Given the description of an element on the screen output the (x, y) to click on. 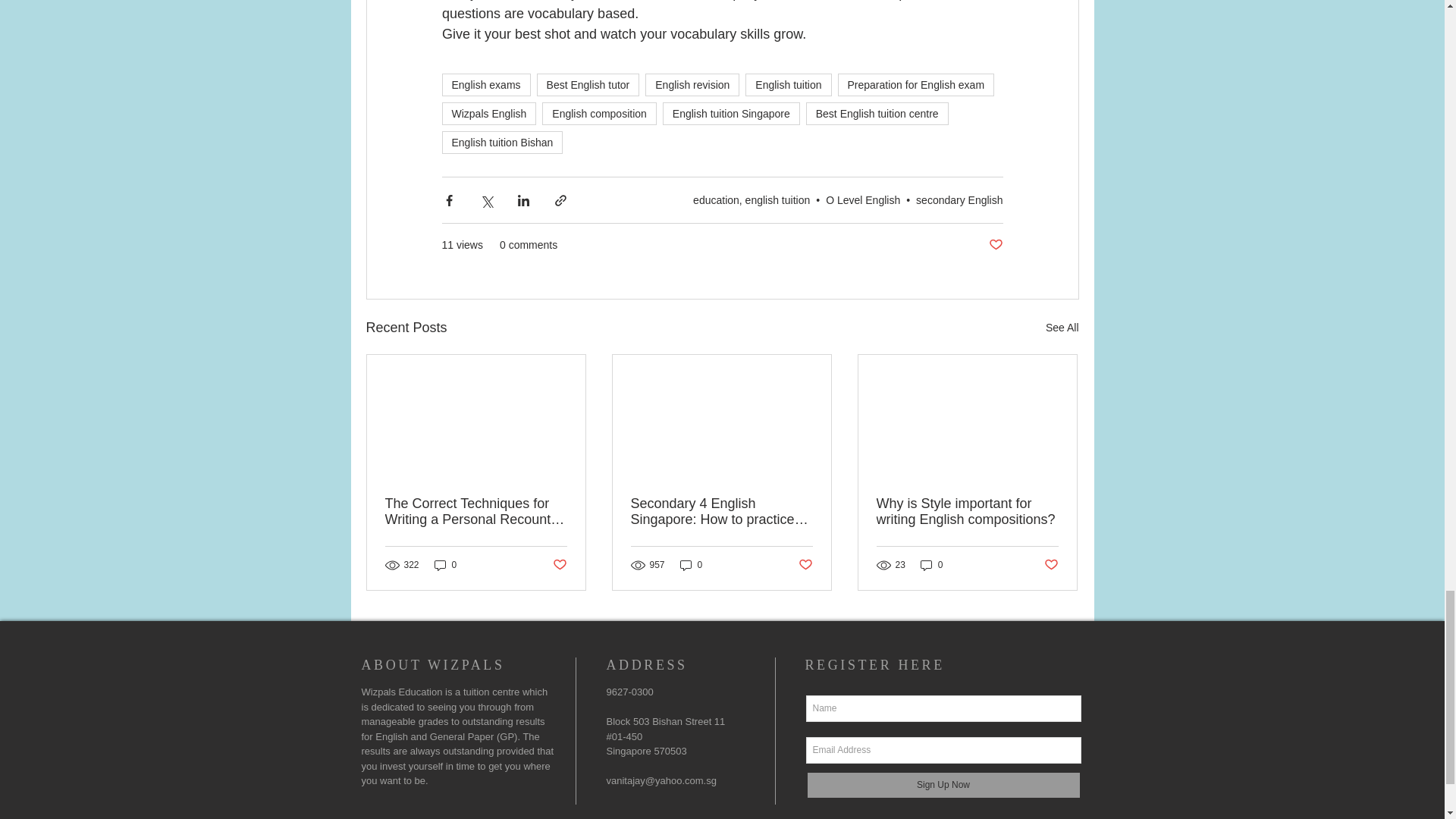
English tuition Singapore (730, 113)
education, english tuition (751, 200)
English revision (692, 84)
See All (1061, 327)
English composition (598, 113)
Best English tutor (588, 84)
0 (445, 564)
secondary English (959, 200)
Preparation for English exam (916, 84)
